Given the description of an element on the screen output the (x, y) to click on. 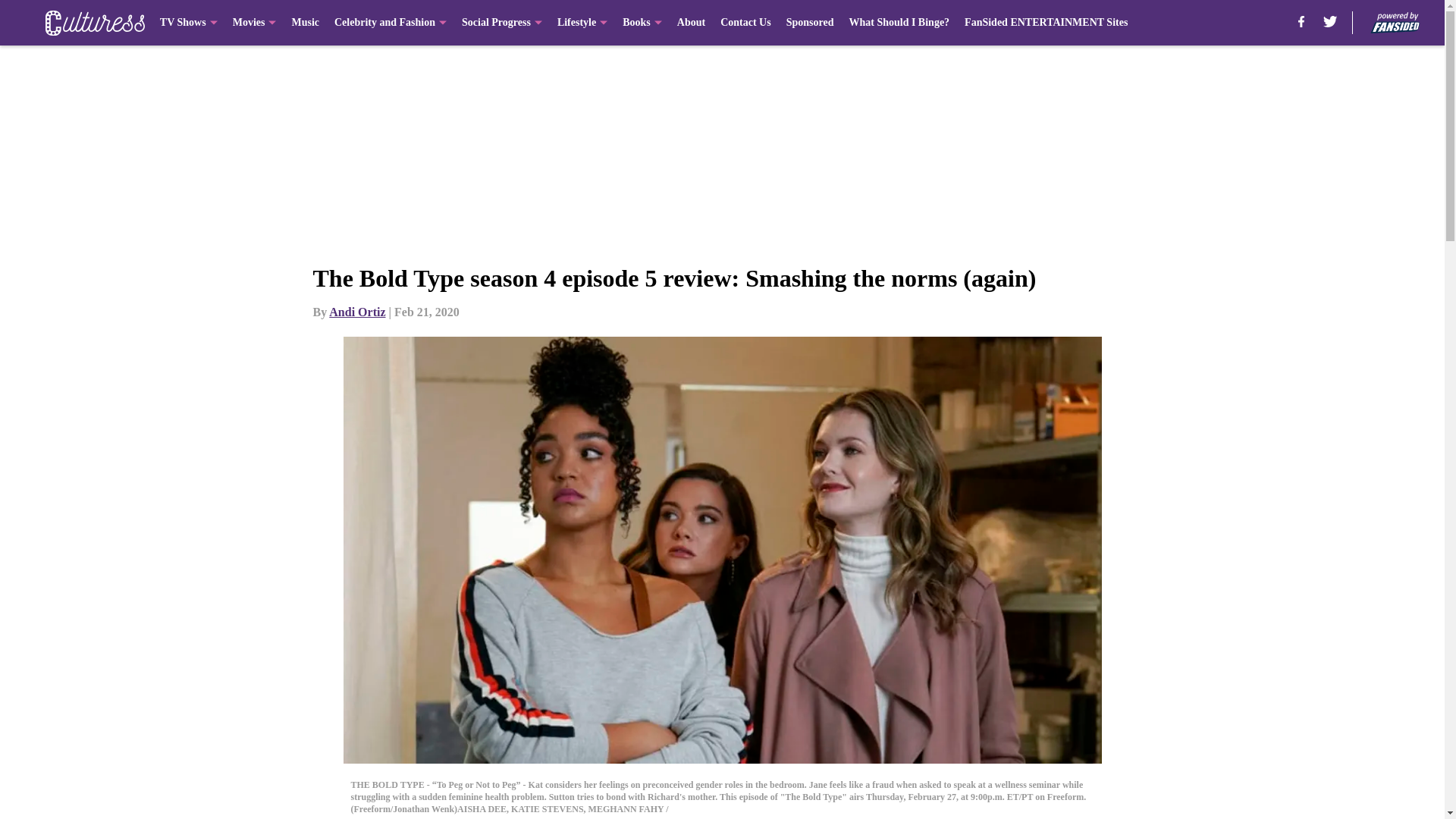
Music (304, 22)
